Given the description of an element on the screen output the (x, y) to click on. 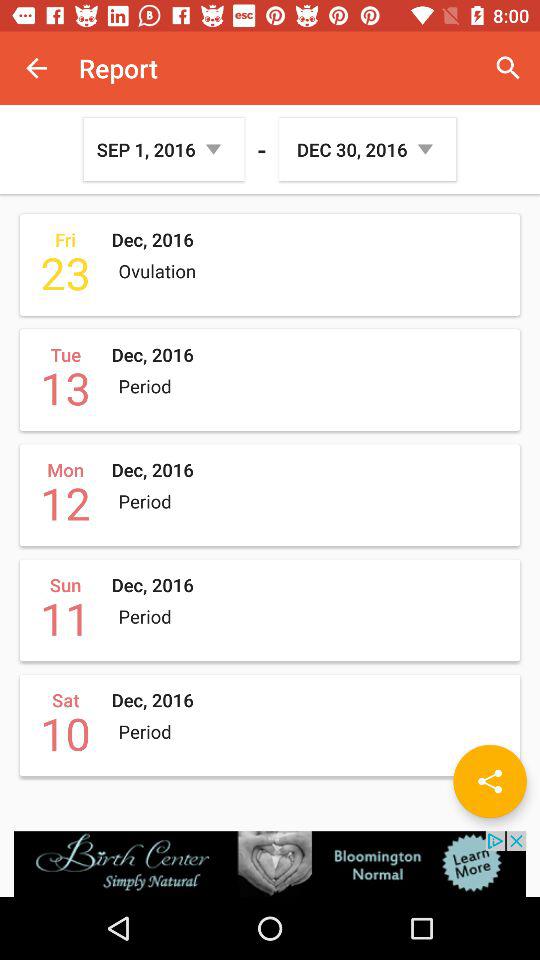
share the article (489, 781)
